Given the description of an element on the screen output the (x, y) to click on. 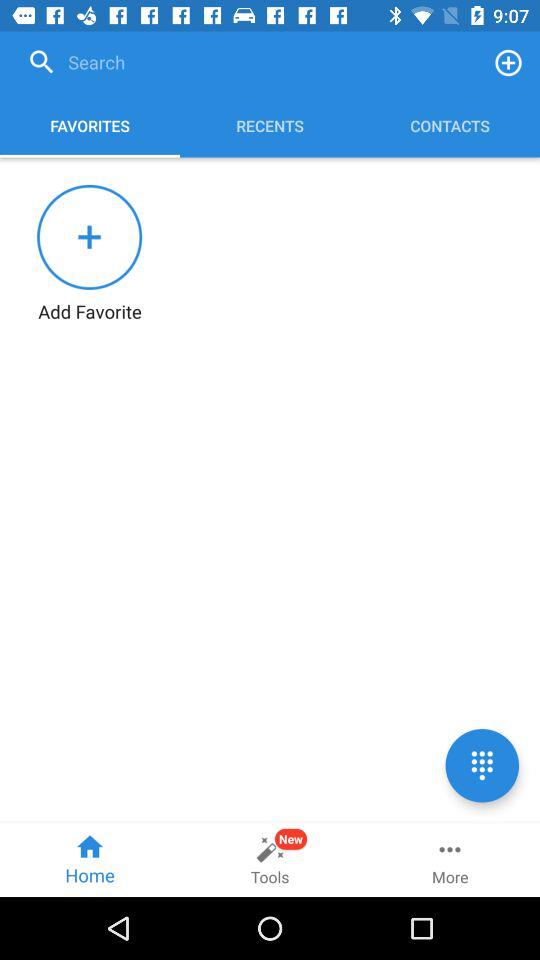
tap item above favorites item (248, 62)
